Given the description of an element on the screen output the (x, y) to click on. 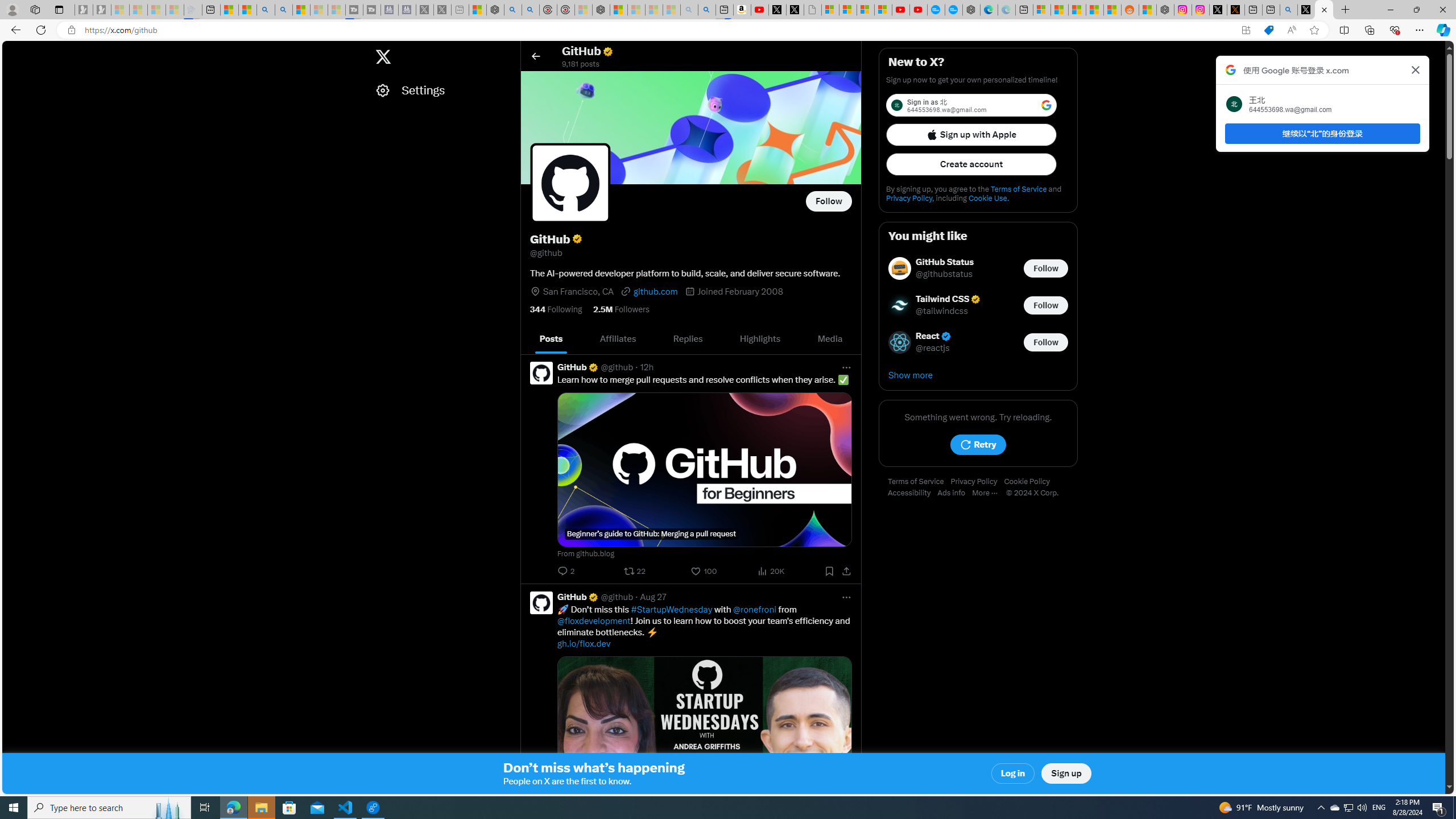
Settings (441, 90)
Day 1: Arriving in Yemen (surreal to be here) - YouTube (759, 9)
help.x.com | 524: A timeout occurred (1235, 9)
Streaming Coverage | T3 - Sleeping (354, 9)
Accessibility (912, 492)
Class: LgbsSe-Bz112c (1046, 104)
Log in (1013, 773)
Microsoft Start - Sleeping (319, 9)
React Verified account @reactjs Follow @reactjs (978, 342)
poe ++ standard - Search (530, 9)
